Given the description of an element on the screen output the (x, y) to click on. 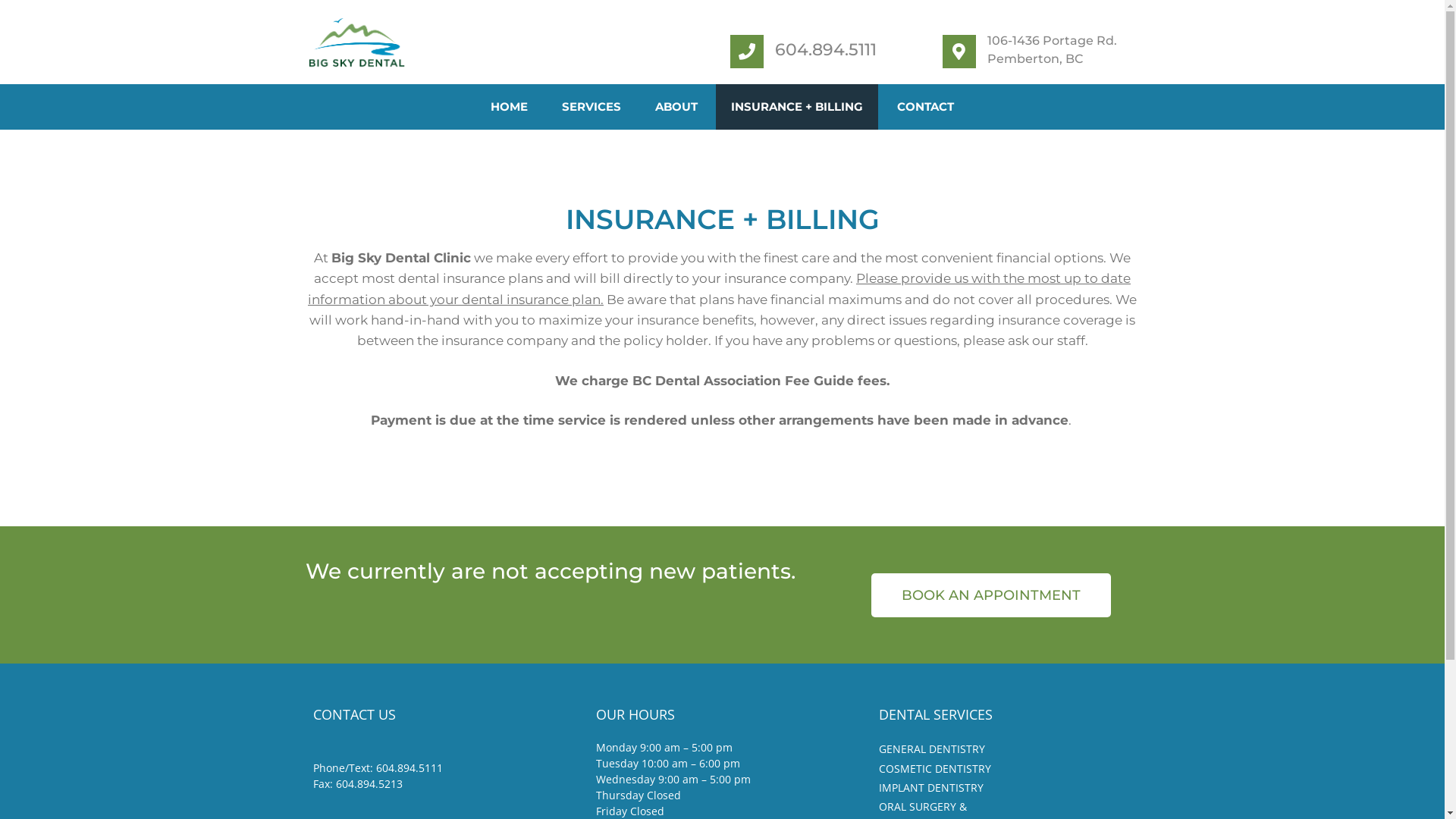
CONTACT Element type: text (925, 106)
HOME Element type: text (508, 106)
INSURANCE + BILLING Element type: text (796, 106)
SERVICES Element type: text (591, 106)
ABOUT Element type: text (676, 106)
BOOK AN APPOINTMENT Element type: text (990, 595)
